Given the description of an element on the screen output the (x, y) to click on. 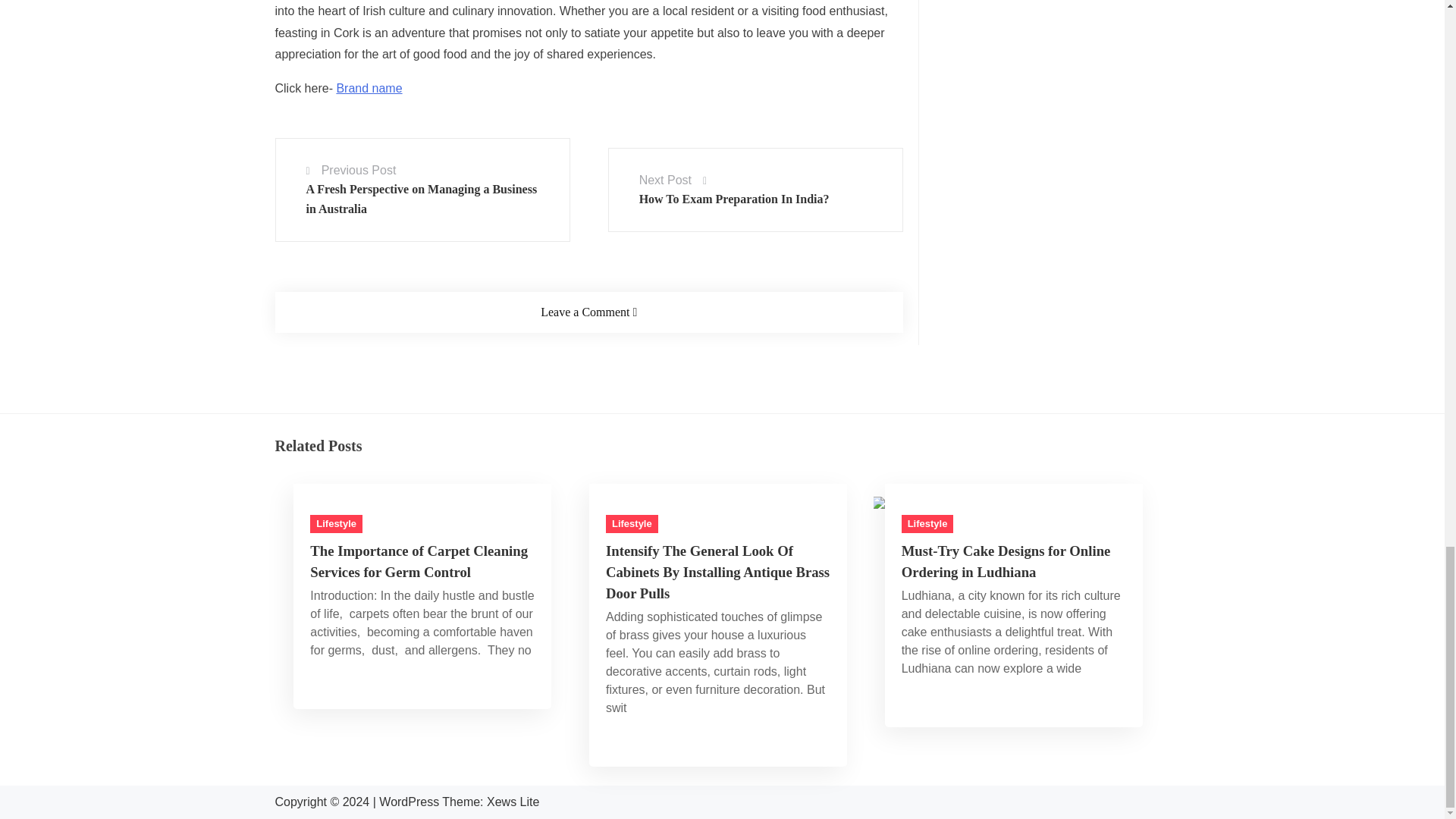
Must-Try Cake Designs for Online Ordering in Ludhiana (1012, 421)
How To Exam Preparation In India? (734, 11)
A Fresh Perspective on Managing a Business in Australia (421, 13)
